Given the description of an element on the screen output the (x, y) to click on. 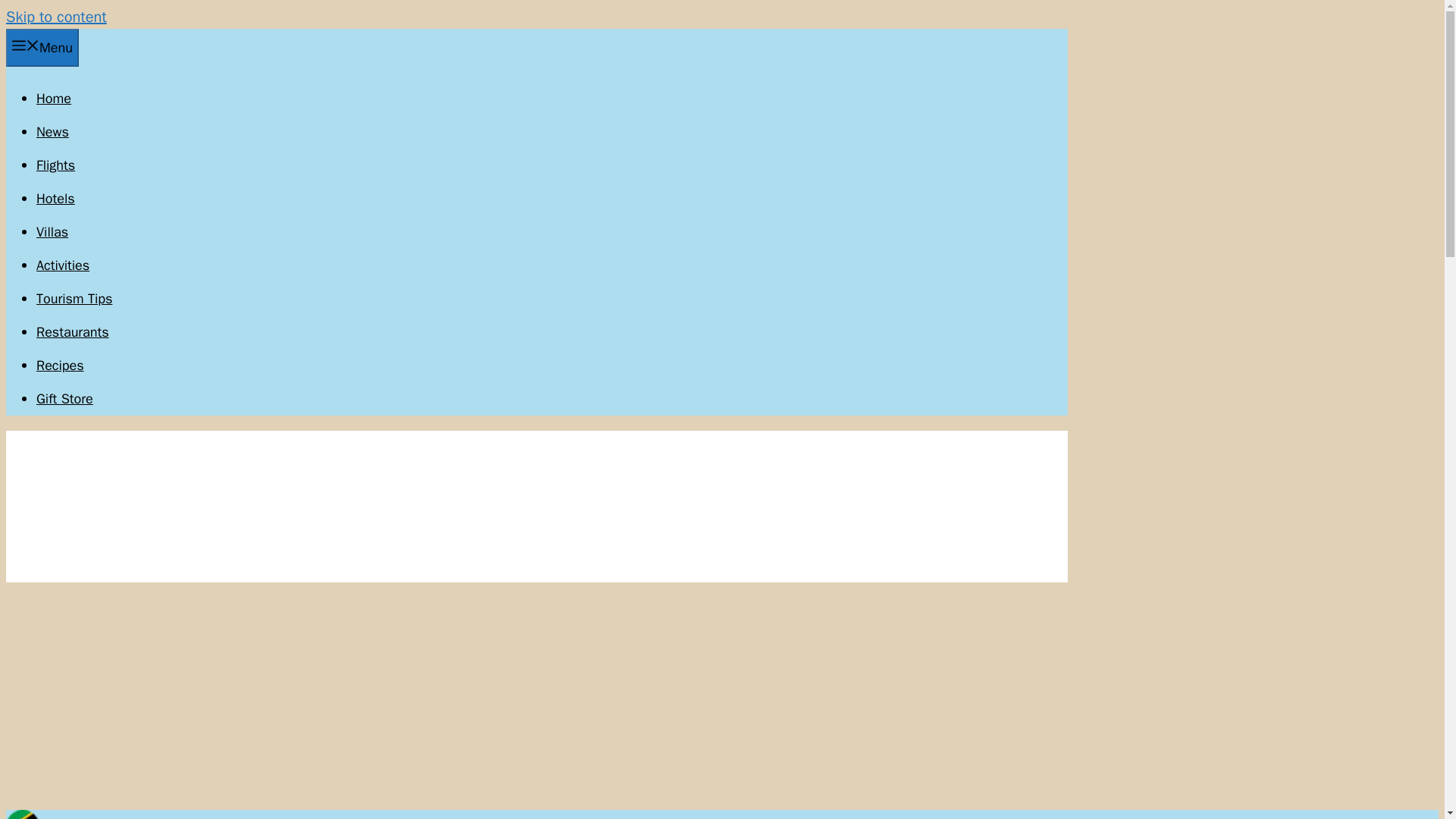
Luxury Nevis Hotels (55, 198)
Recipes (60, 365)
Nevis Activities and Events Calendar (62, 265)
Nevis News (52, 131)
Flights (55, 165)
Skip to content (55, 16)
Hotels (55, 198)
Villas (52, 231)
Gift Store (64, 398)
